Given the description of an element on the screen output the (x, y) to click on. 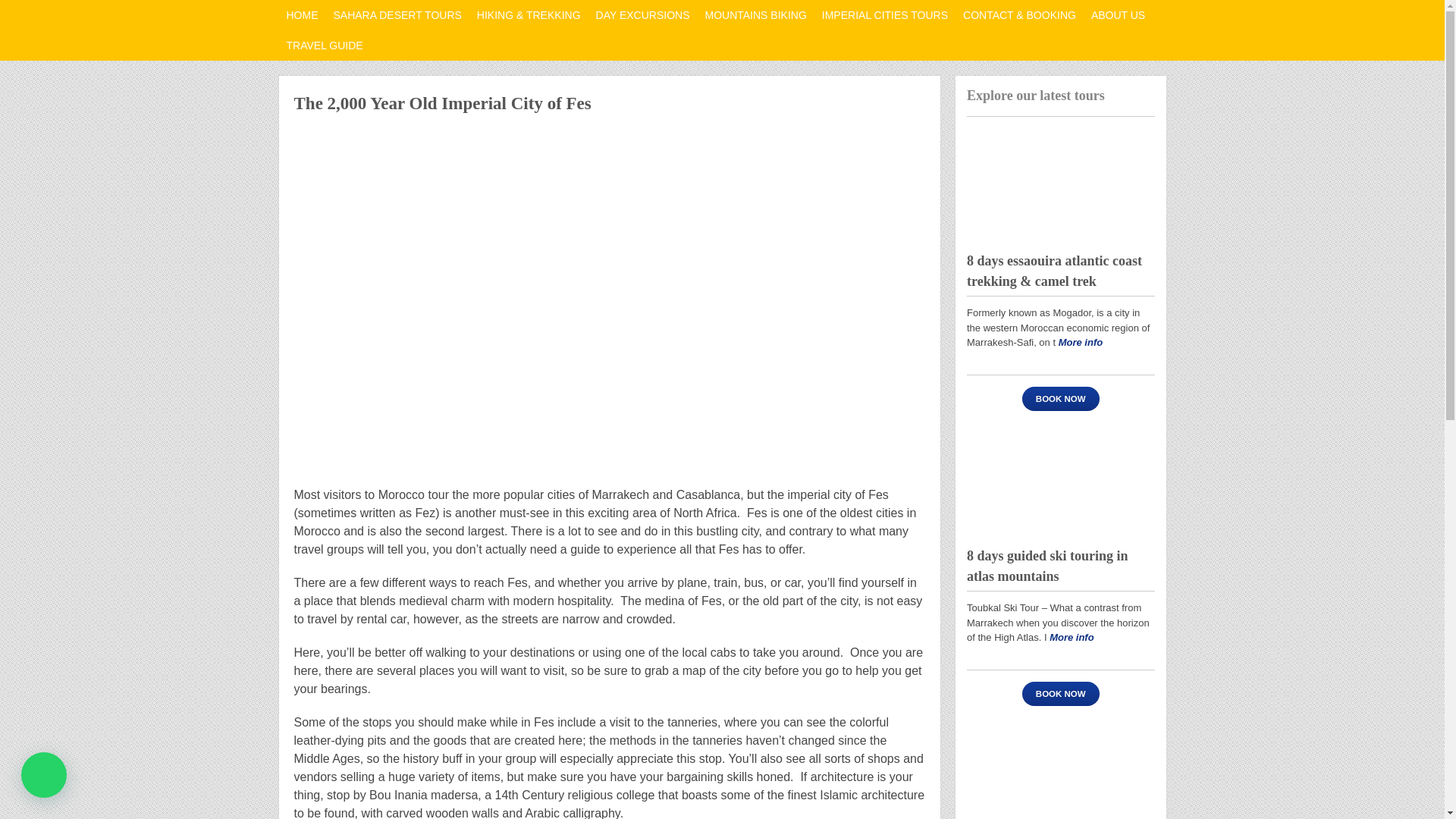
IMPERIAL CITIES TOURS (884, 15)
More info (1080, 342)
MOUNTAINS BIKING (755, 15)
BOOK NOW (1060, 398)
Book now (1060, 693)
SAHARA DESERT TOURS (397, 15)
ABOUT US (1118, 15)
BOOK NOW (1060, 693)
DAY EXCURSIONS (642, 15)
More info (1071, 636)
Book now (1060, 398)
HOME (302, 15)
8 days guided ski touring in atlas mountains (1060, 479)
TRAVEL GUIDE (325, 45)
